Given the description of an element on the screen output the (x, y) to click on. 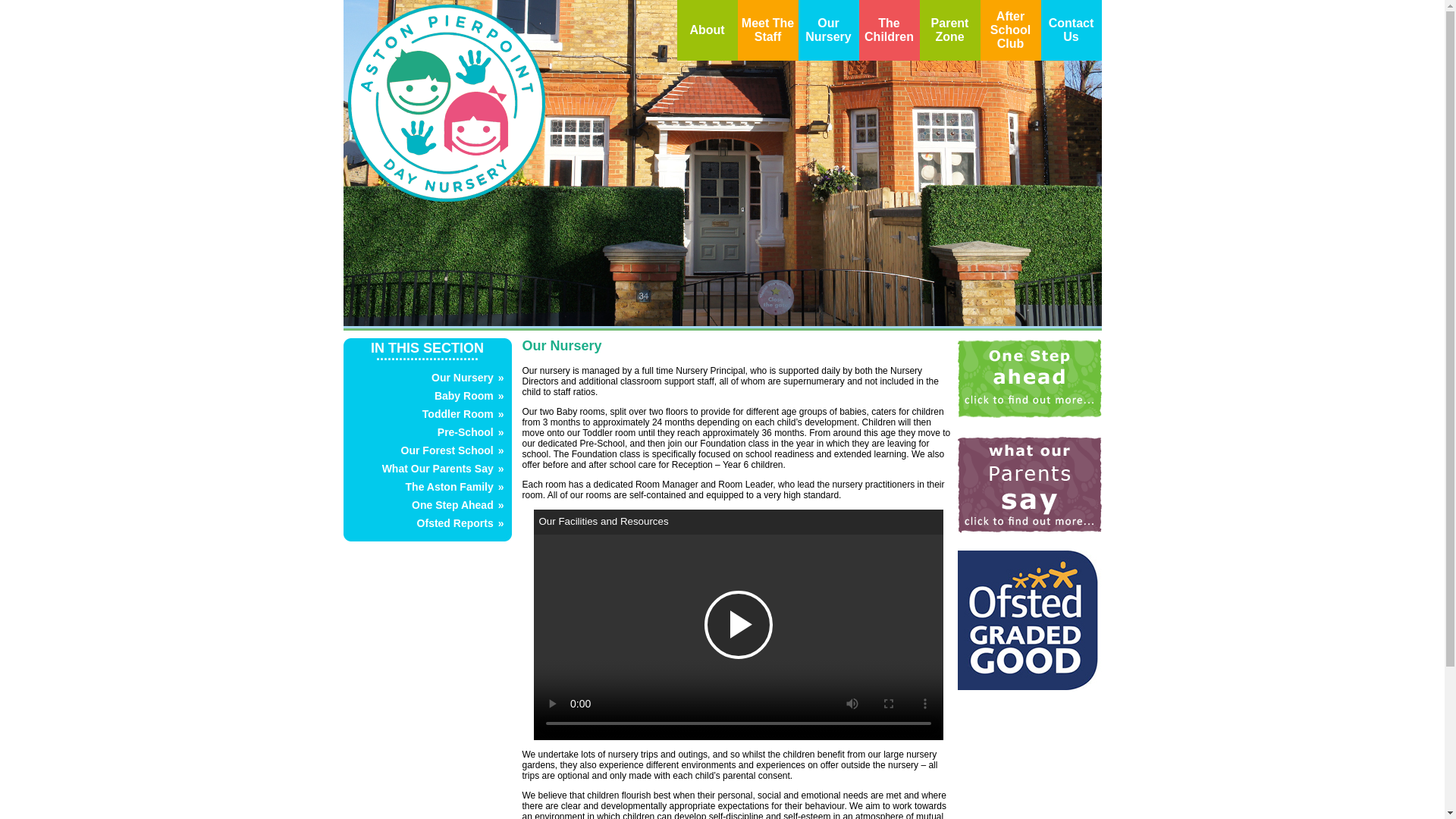
Contact Us (1071, 29)
Play Video (737, 624)
Our Nursery (461, 377)
The Aston Family (449, 486)
After School Club (1010, 29)
Our Nursery (827, 29)
About (705, 29)
What Our Parents Say (437, 468)
Pre-School (465, 431)
Meet The Staff (767, 29)
Our Forest School (447, 450)
The Children (889, 29)
Parent Zone (950, 29)
Ofsted Reports (454, 522)
One Step Ahead (452, 504)
